Given the description of an element on the screen output the (x, y) to click on. 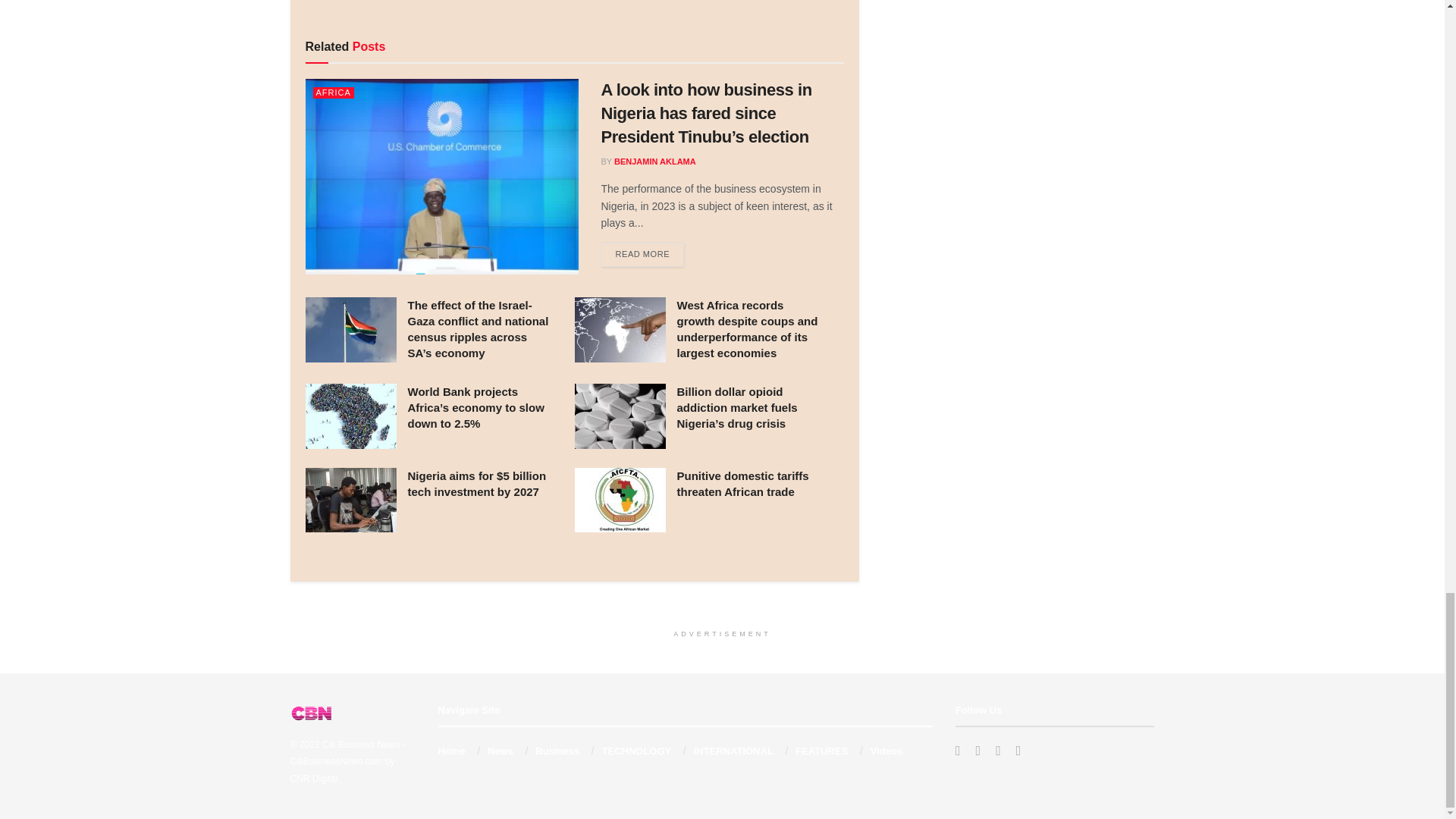
CNR Digital (313, 778)
Citi Business News (360, 744)
